Given the description of an element on the screen output the (x, y) to click on. 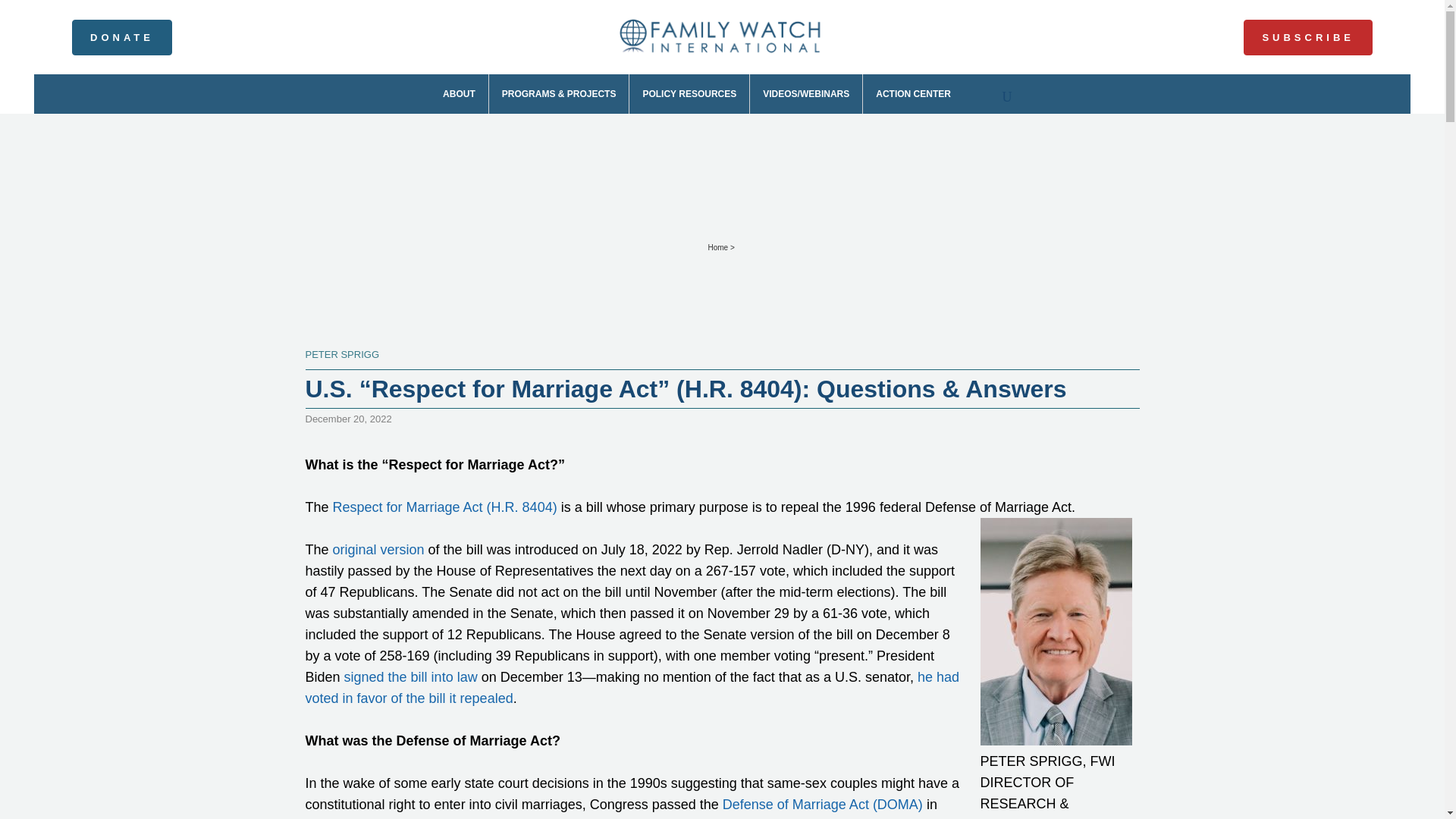
Learn More (525, 9)
ABOUT (459, 93)
Got it! (18, 29)
SUBSCRIBE (1308, 37)
POLICY RESOURCES (688, 93)
DONATE (121, 37)
